Given the description of an element on the screen output the (x, y) to click on. 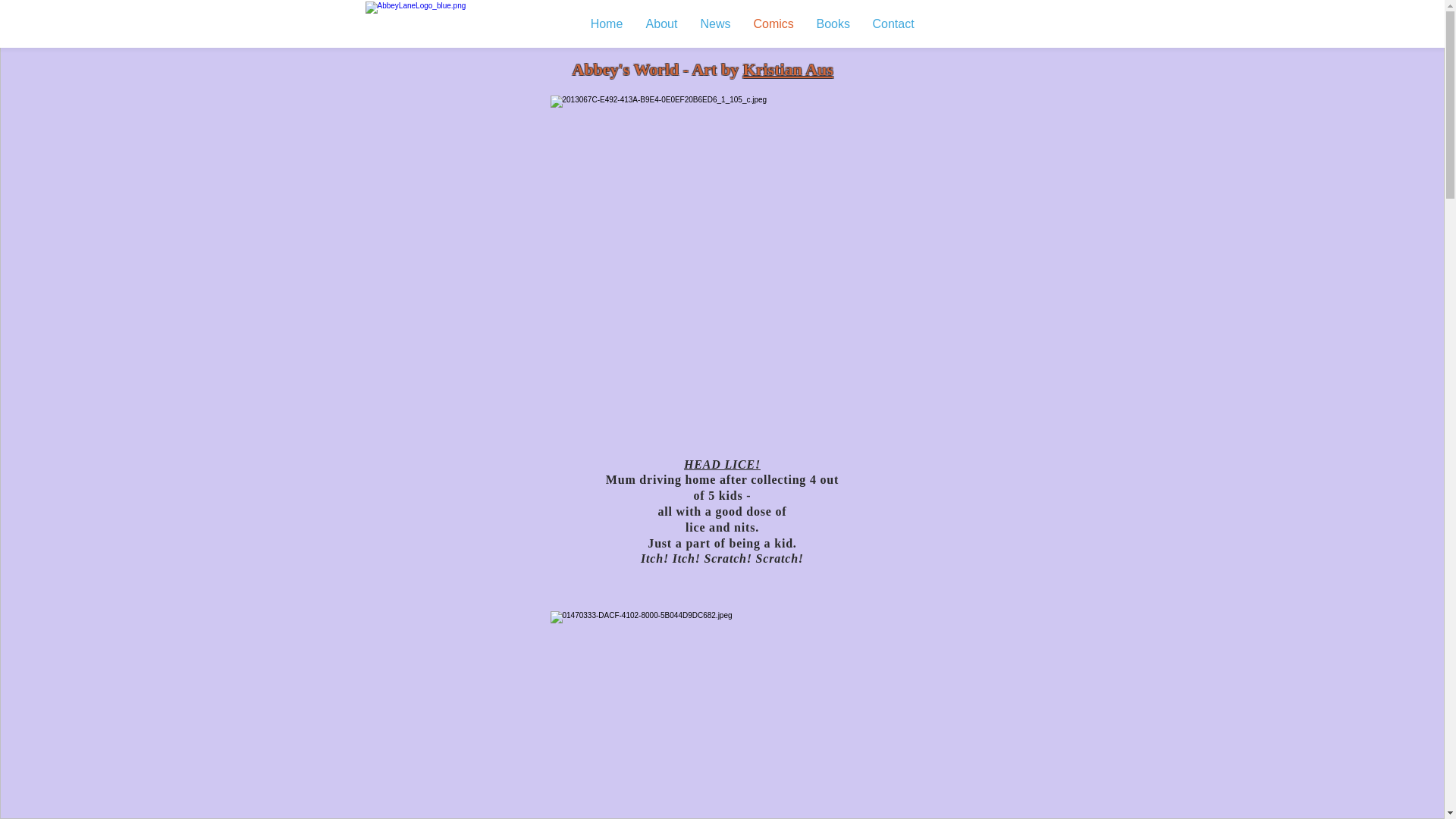
About Element type: text (660, 23)
Home Element type: text (606, 23)
News Element type: text (714, 23)
Contact Element type: text (893, 23)
Comics Element type: text (772, 23)
Kristian Aus Element type: text (788, 68)
Books Element type: text (833, 23)
